Given the description of an element on the screen output the (x, y) to click on. 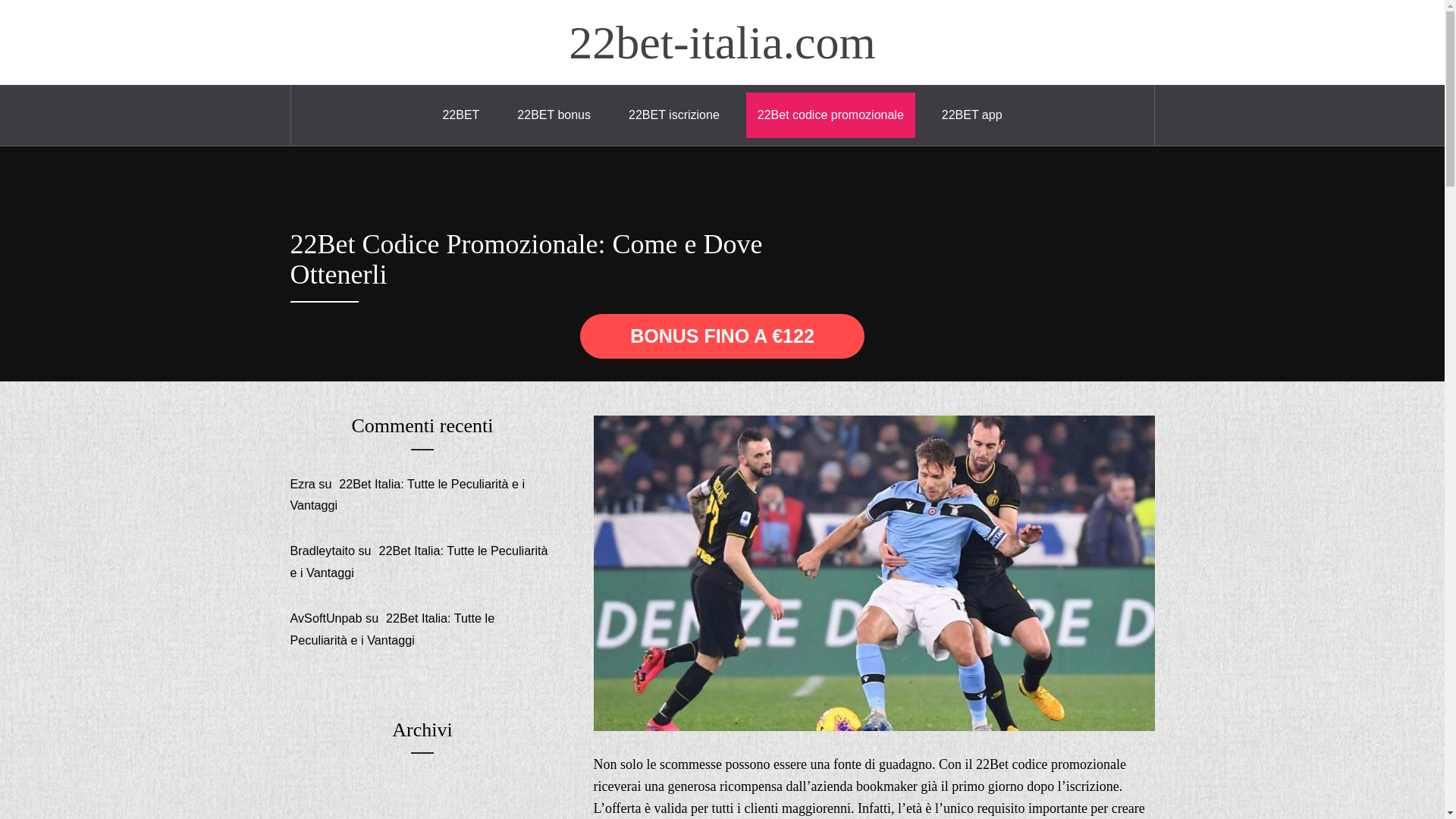
22BET iscrizione Element type: text (674, 115)
22BET bonus Element type: text (553, 115)
22BET app Element type: text (971, 115)
Skip to content Element type: text (0, 0)
22BET Element type: text (460, 115)
22Bet codice promozionale Element type: text (830, 115)
22bet-italia.com Element type: text (721, 42)
